Given the description of an element on the screen output the (x, y) to click on. 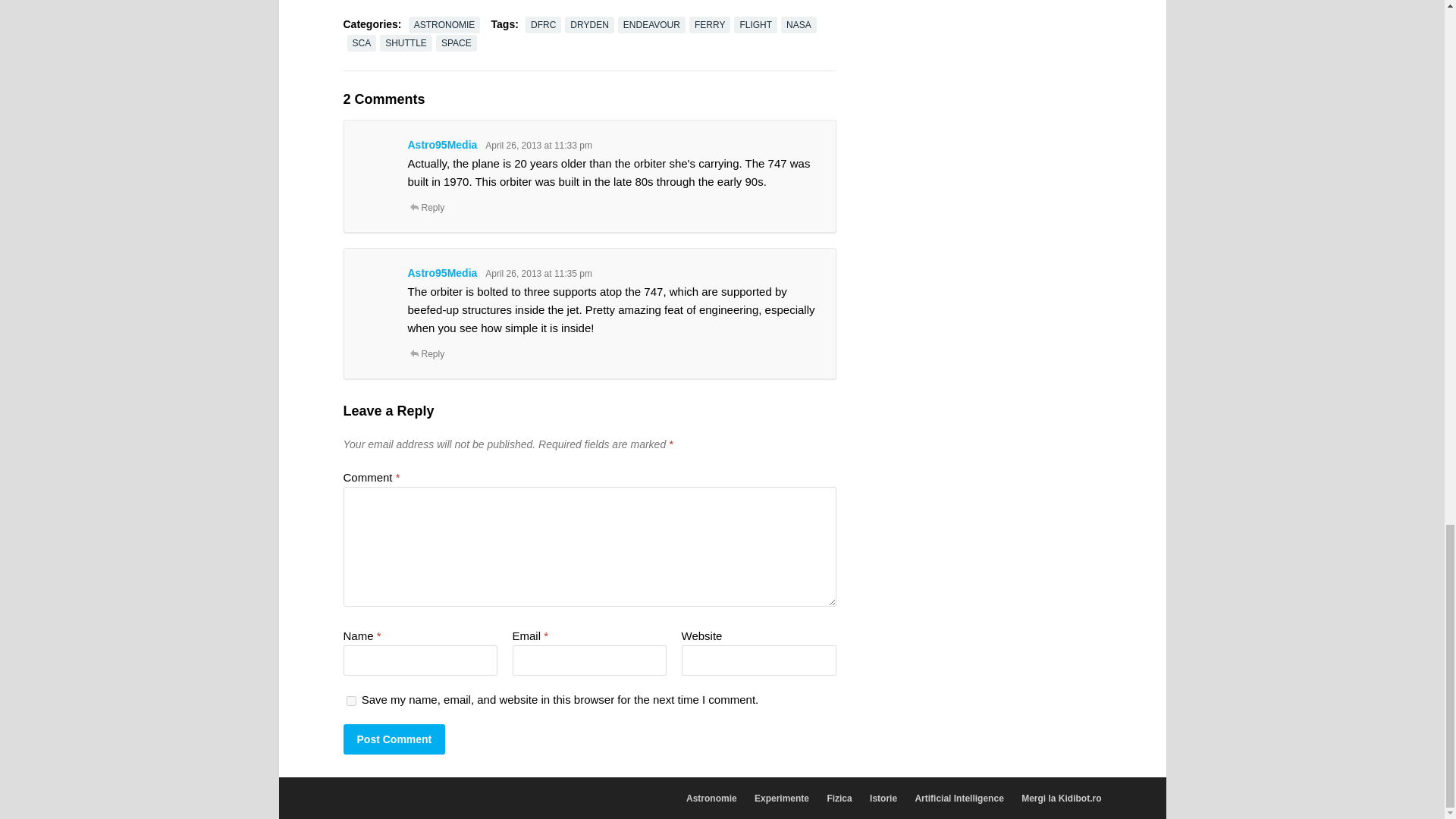
ENDEAVOUR (651, 24)
ASTRONOMIE (444, 24)
DRYDEN (588, 24)
yes (350, 700)
DFRC (542, 24)
Post Comment (393, 738)
